Given the description of an element on the screen output the (x, y) to click on. 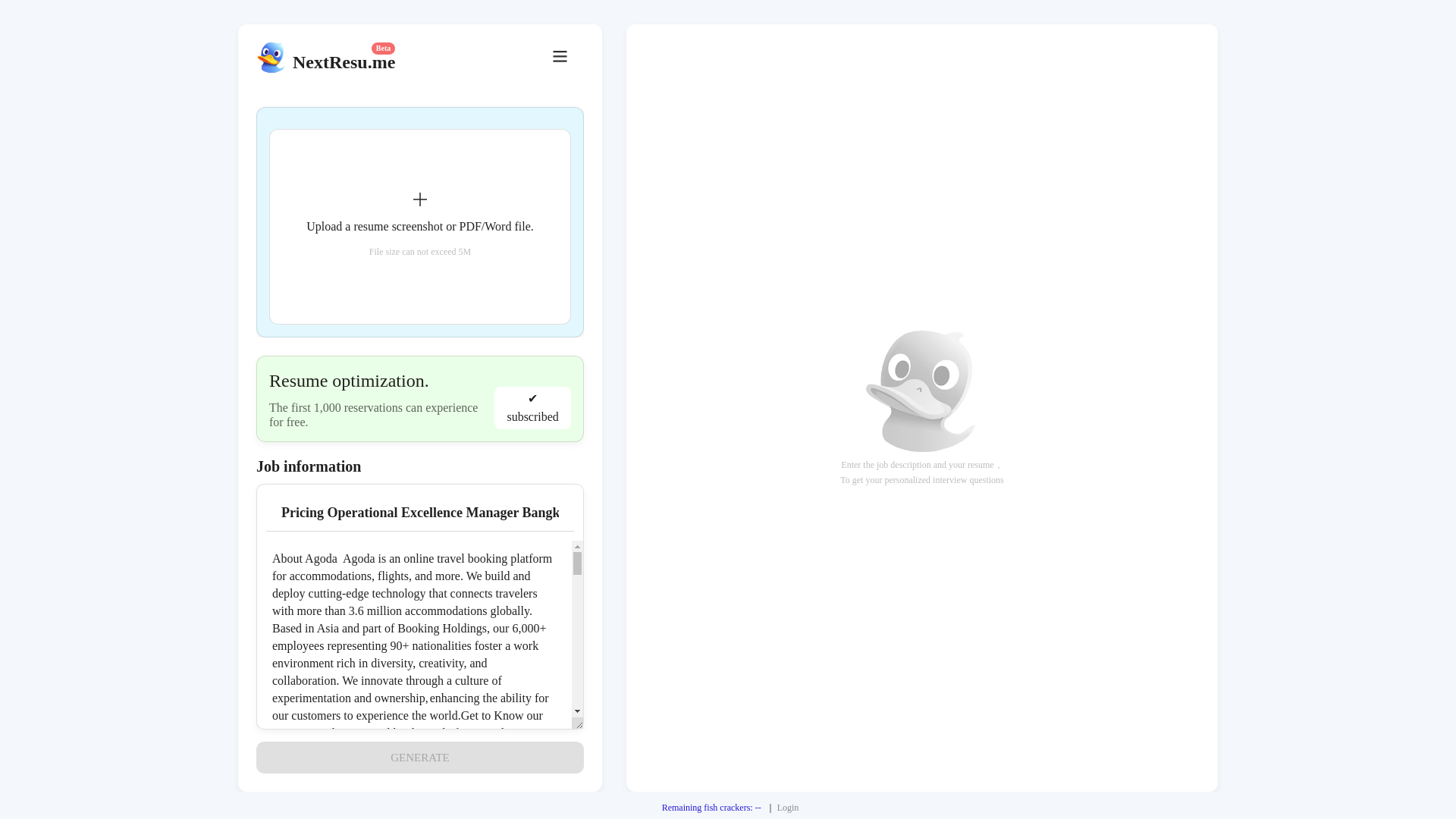
Remaining fish crackers: -- (711, 807)
Login (788, 807)
GENERATE (419, 757)
